Given the description of an element on the screen output the (x, y) to click on. 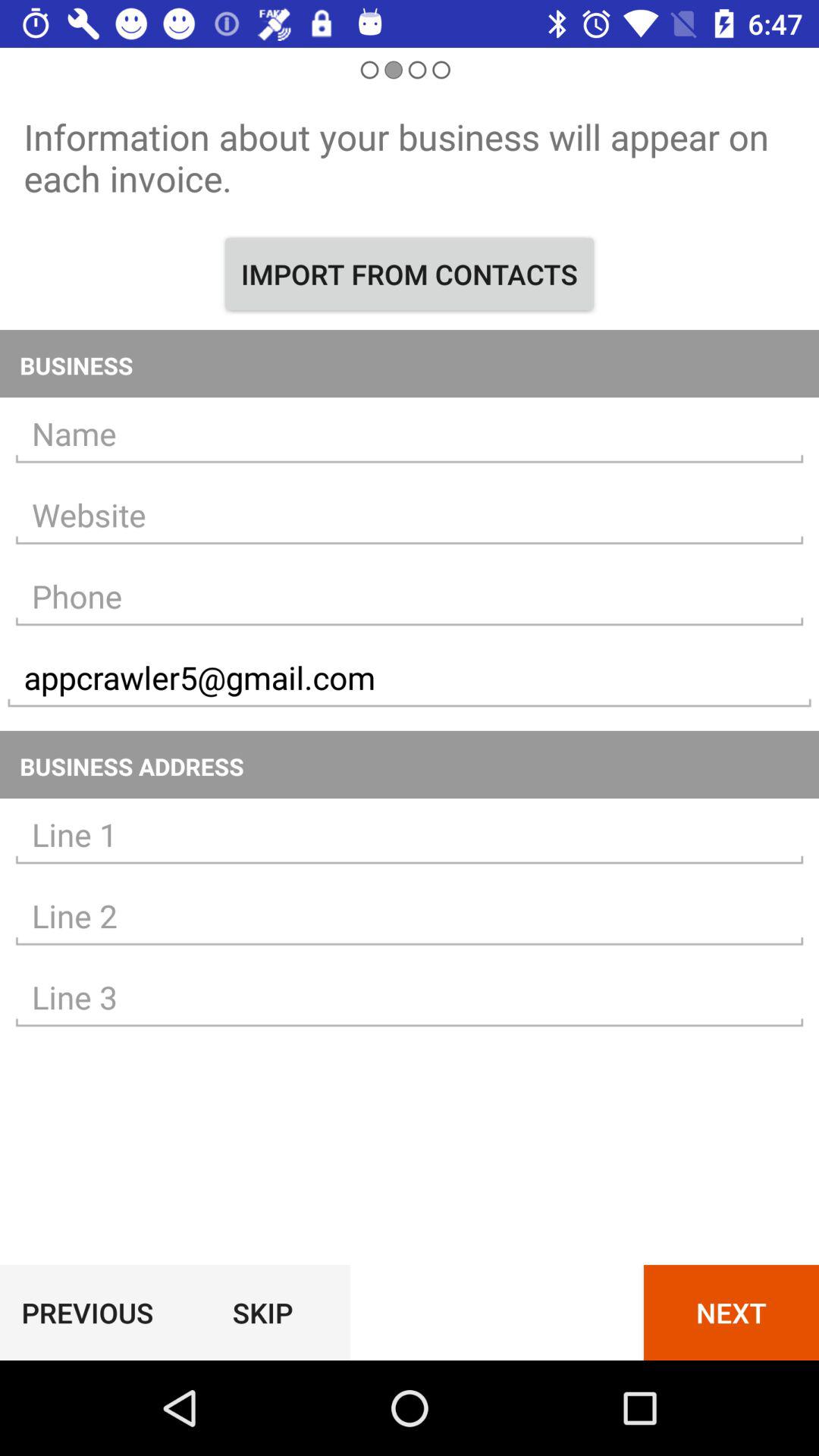
add address information (409, 997)
